Given the description of an element on the screen output the (x, y) to click on. 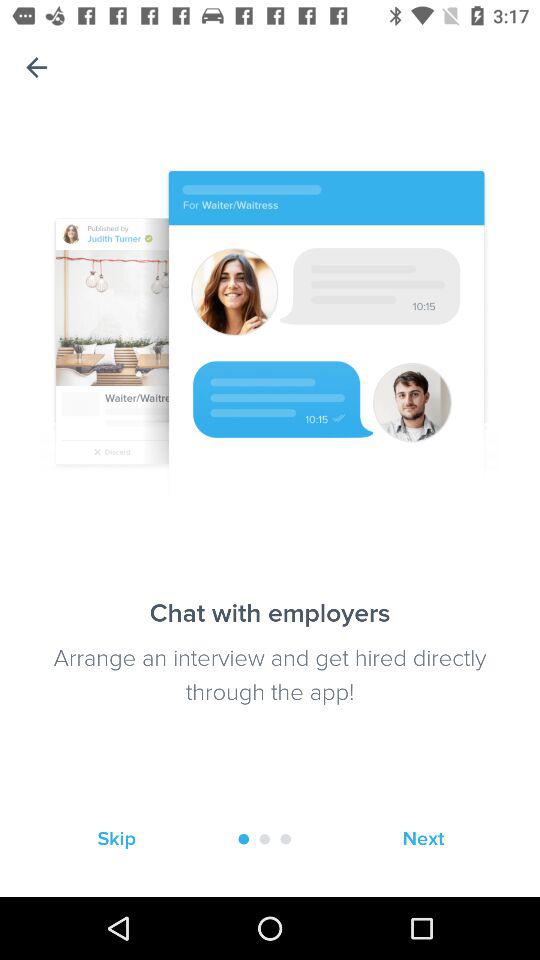
open the icon below the arrange an interview (423, 838)
